Given the description of an element on the screen output the (x, y) to click on. 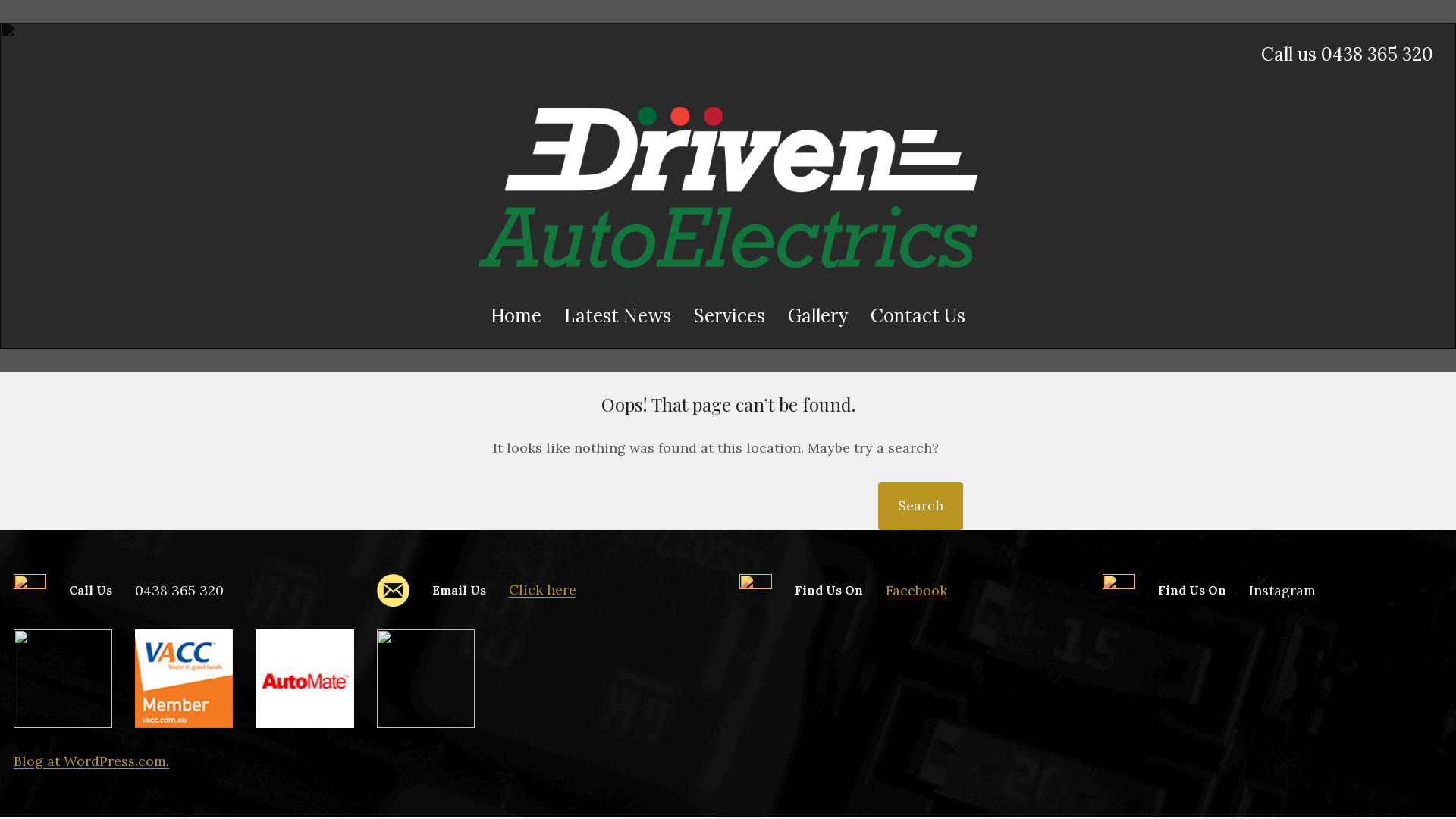
Contact Us Element type: text (917, 315)
Click here Element type: text (541, 589)
Services Element type: text (729, 315)
Blog at WordPress.com. Element type: text (91, 760)
Search Element type: text (920, 506)
Home Element type: text (515, 315)
Latest News Element type: text (617, 315)
Gallery Element type: text (817, 315)
Facebook Element type: text (916, 590)
